Given the description of an element on the screen output the (x, y) to click on. 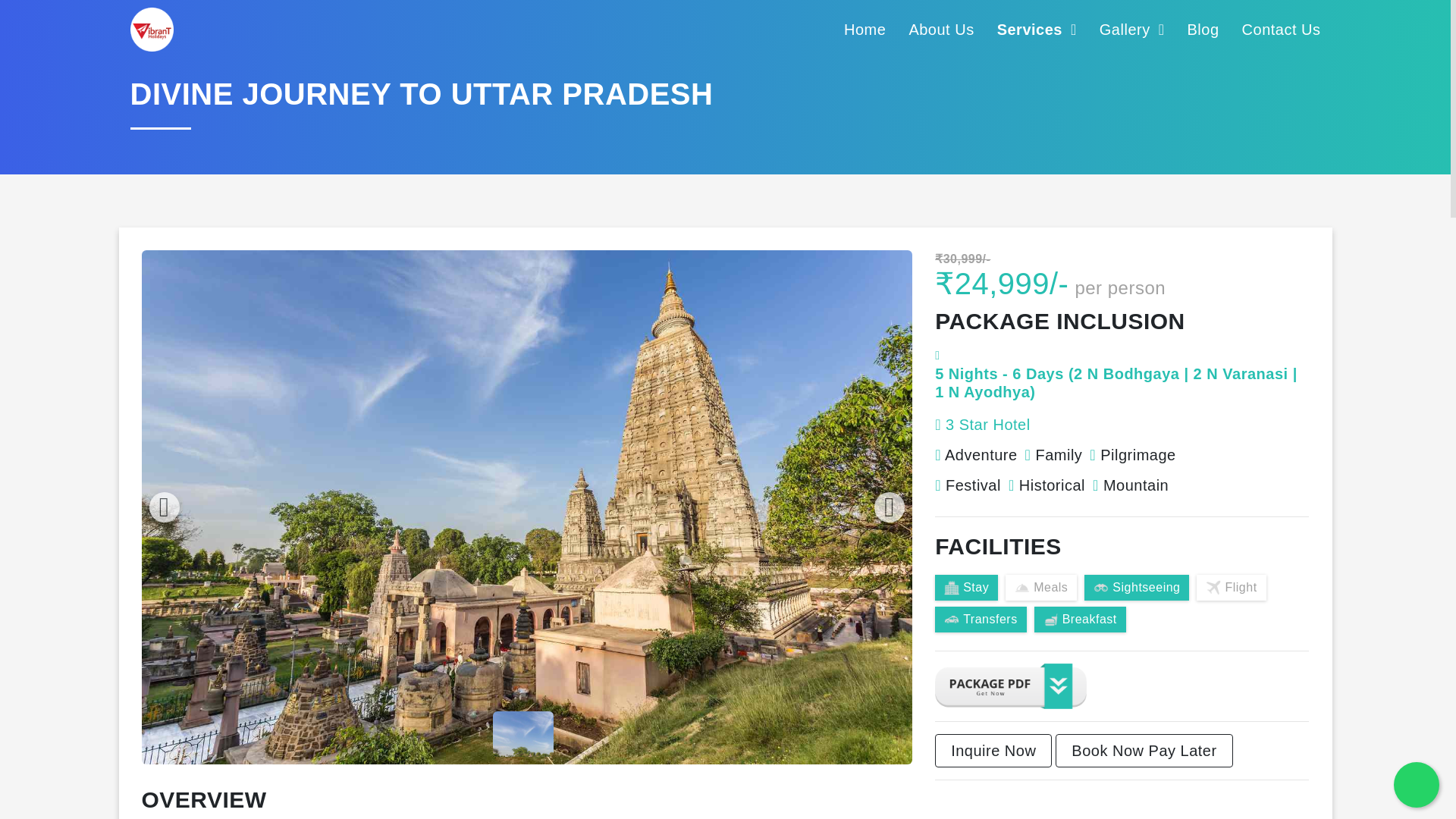
Book Now Pay Later (1143, 750)
Contact Us (1280, 29)
Inquire Now (992, 750)
About Us (941, 29)
Services (1037, 29)
Gallery (1131, 29)
